Given the description of an element on the screen output the (x, y) to click on. 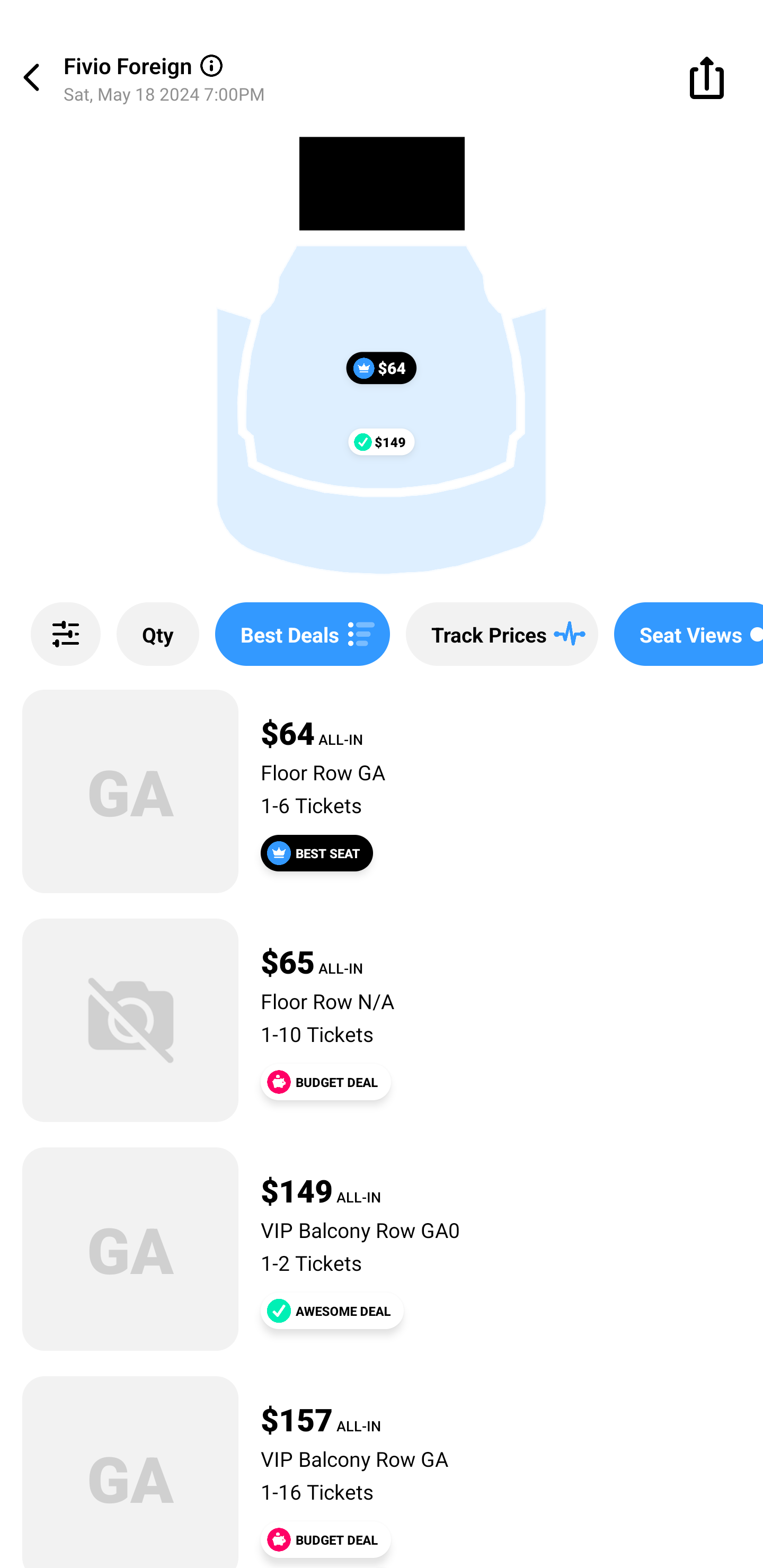
$64 (381, 367)
$149 (381, 441)
Qty (157, 634)
Best Deals (302, 634)
Track Prices (501, 634)
Seat Views (688, 634)
BEST SEAT (316, 852)
BUDGET DEAL (325, 1081)
AWESOME DEAL (331, 1310)
BUDGET DEAL (325, 1539)
